Given the description of an element on the screen output the (x, y) to click on. 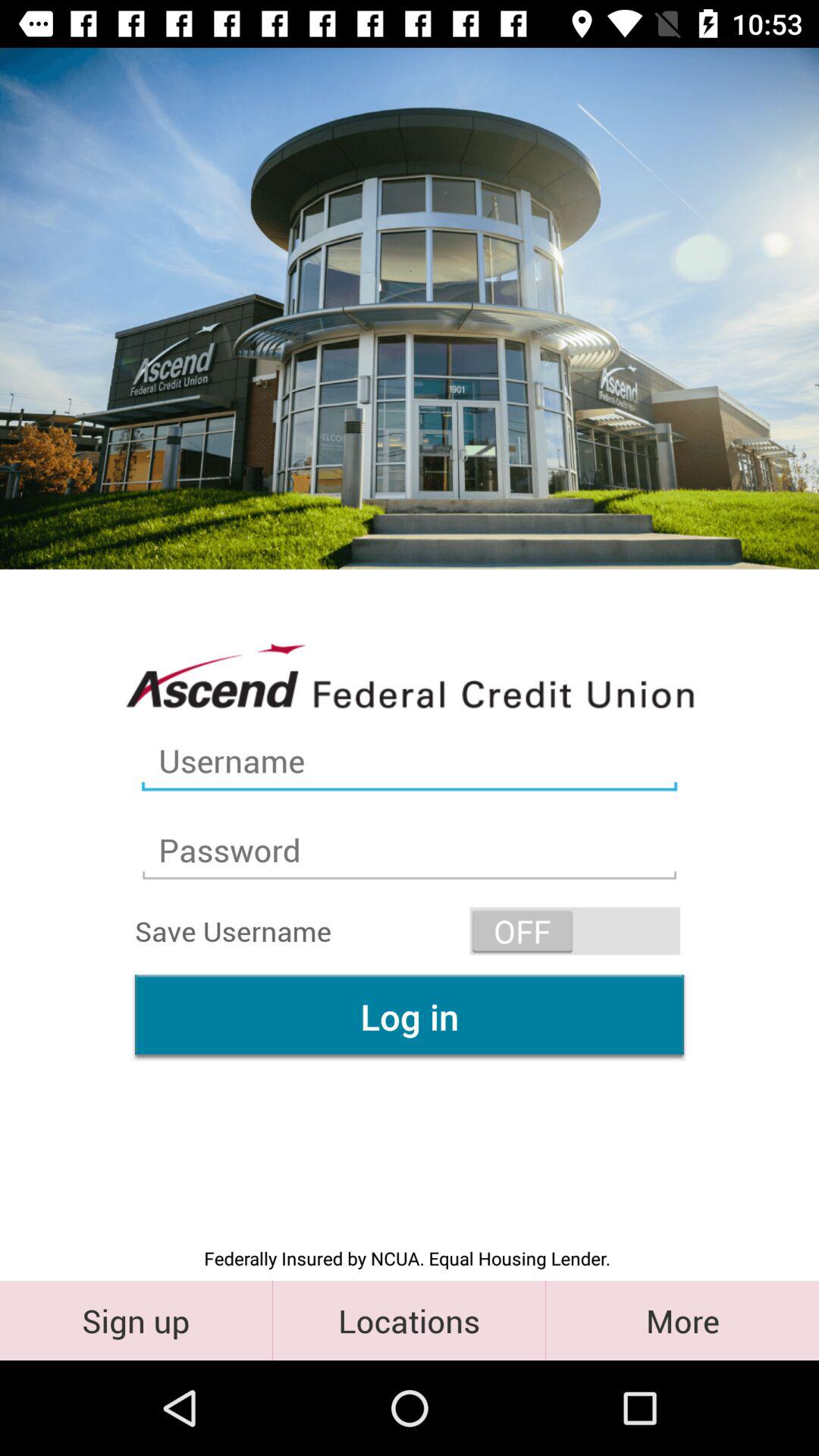
read the text below the image (409, 674)
click on the button next to sing in (408, 1320)
click on the off button above the log in option (574, 930)
click second text field (409, 849)
